Given the description of an element on the screen output the (x, y) to click on. 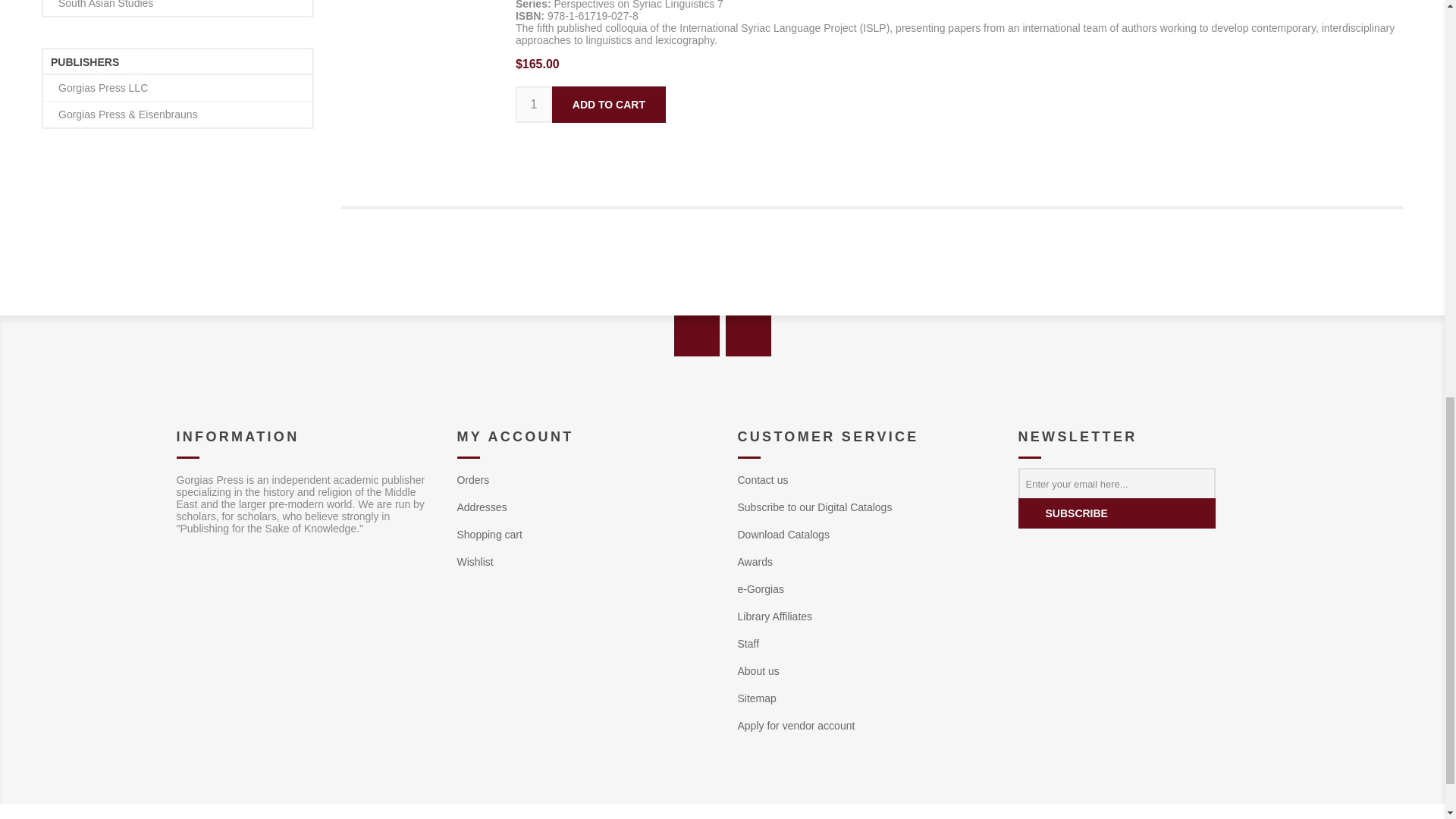
1 (533, 104)
